Given the description of an element on the screen output the (x, y) to click on. 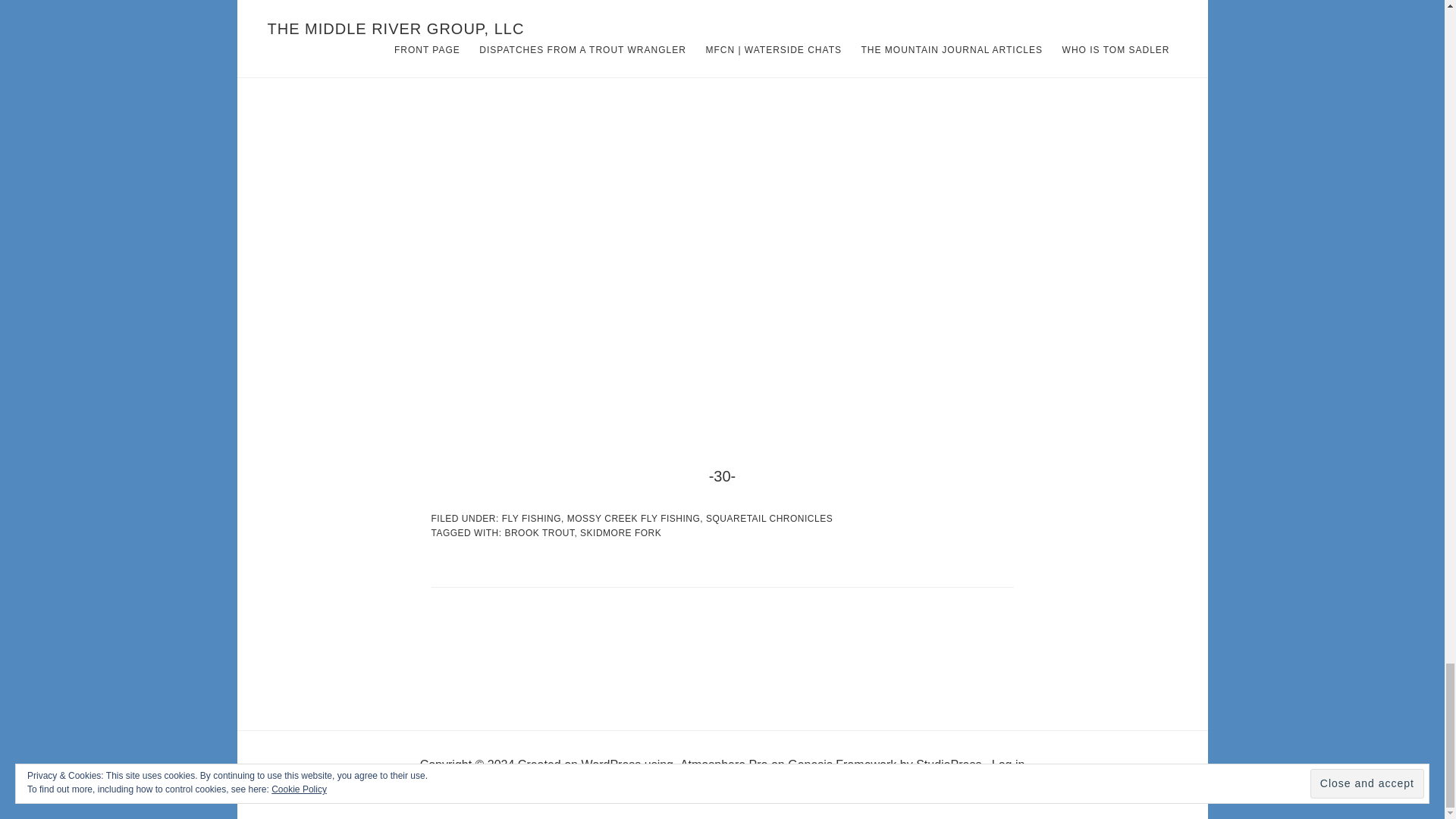
WordPress (610, 764)
PRIVACY POLICY (722, 788)
SQUARETAIL CHRONICLES (769, 518)
SKIDMORE FORK (620, 532)
Log in (1008, 764)
StudioPress (948, 764)
Atmosphere Pro (723, 764)
FLY FISHING (531, 518)
BROOK TROUT (538, 532)
Genesis Framework (841, 764)
MOSSY CREEK FLY FISHING (633, 518)
